Given the description of an element on the screen output the (x, y) to click on. 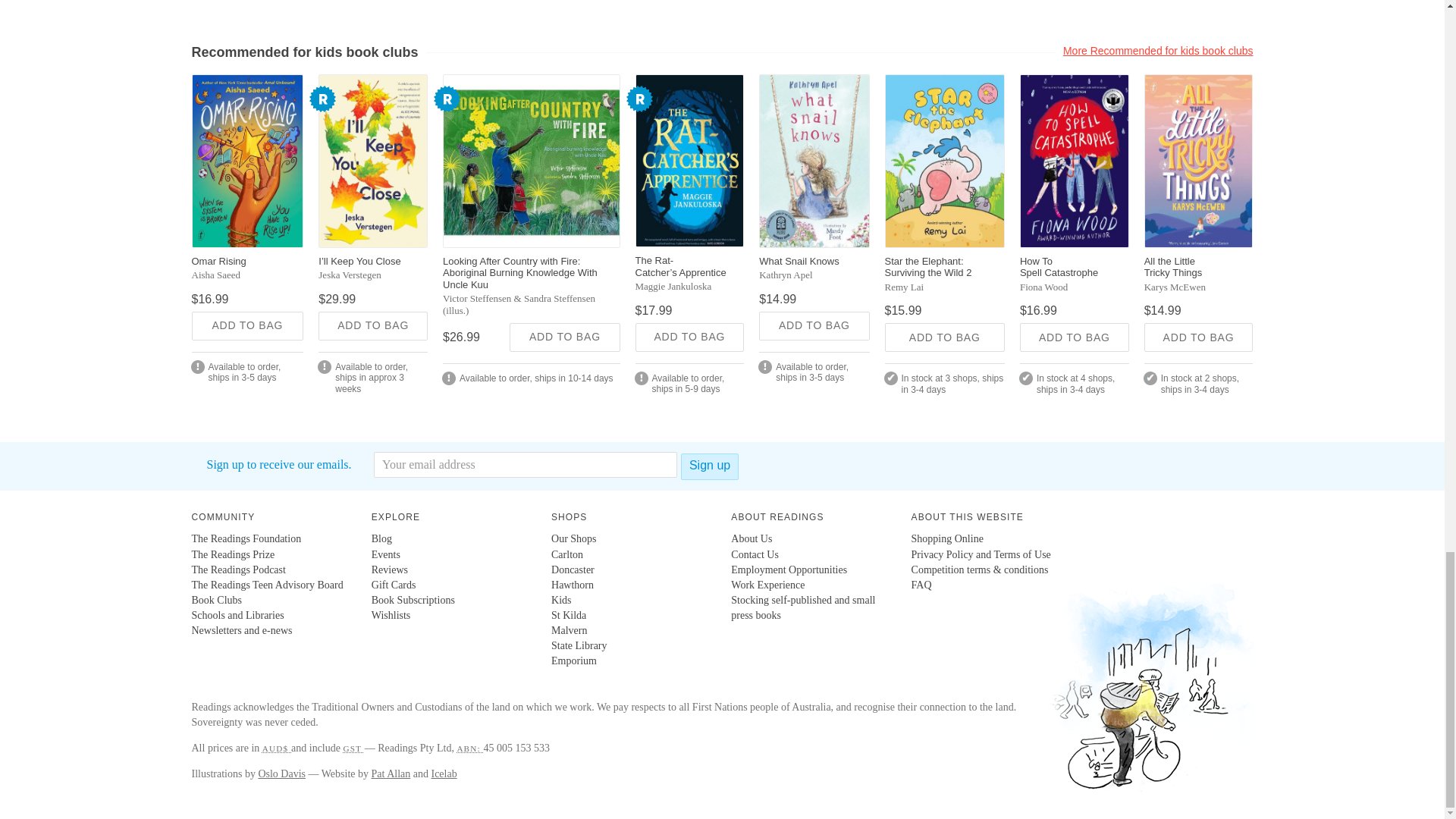
Australian Business Number (470, 747)
Goods and Services Tax (353, 747)
Australian Dollars (276, 747)
